Given the description of an element on the screen output the (x, y) to click on. 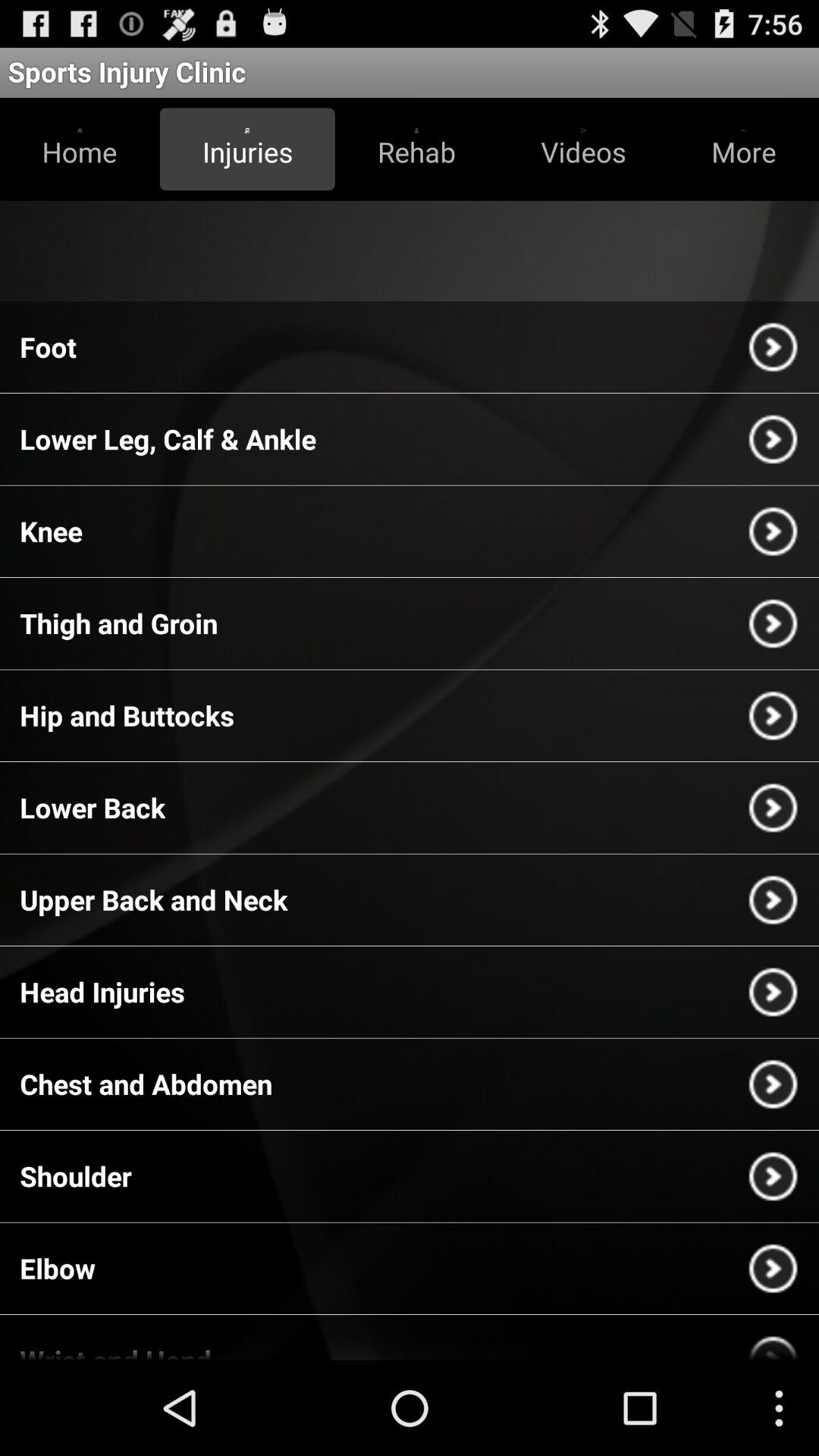
turn off app below the sports injury clinic (79, 149)
